Given the description of an element on the screen output the (x, y) to click on. 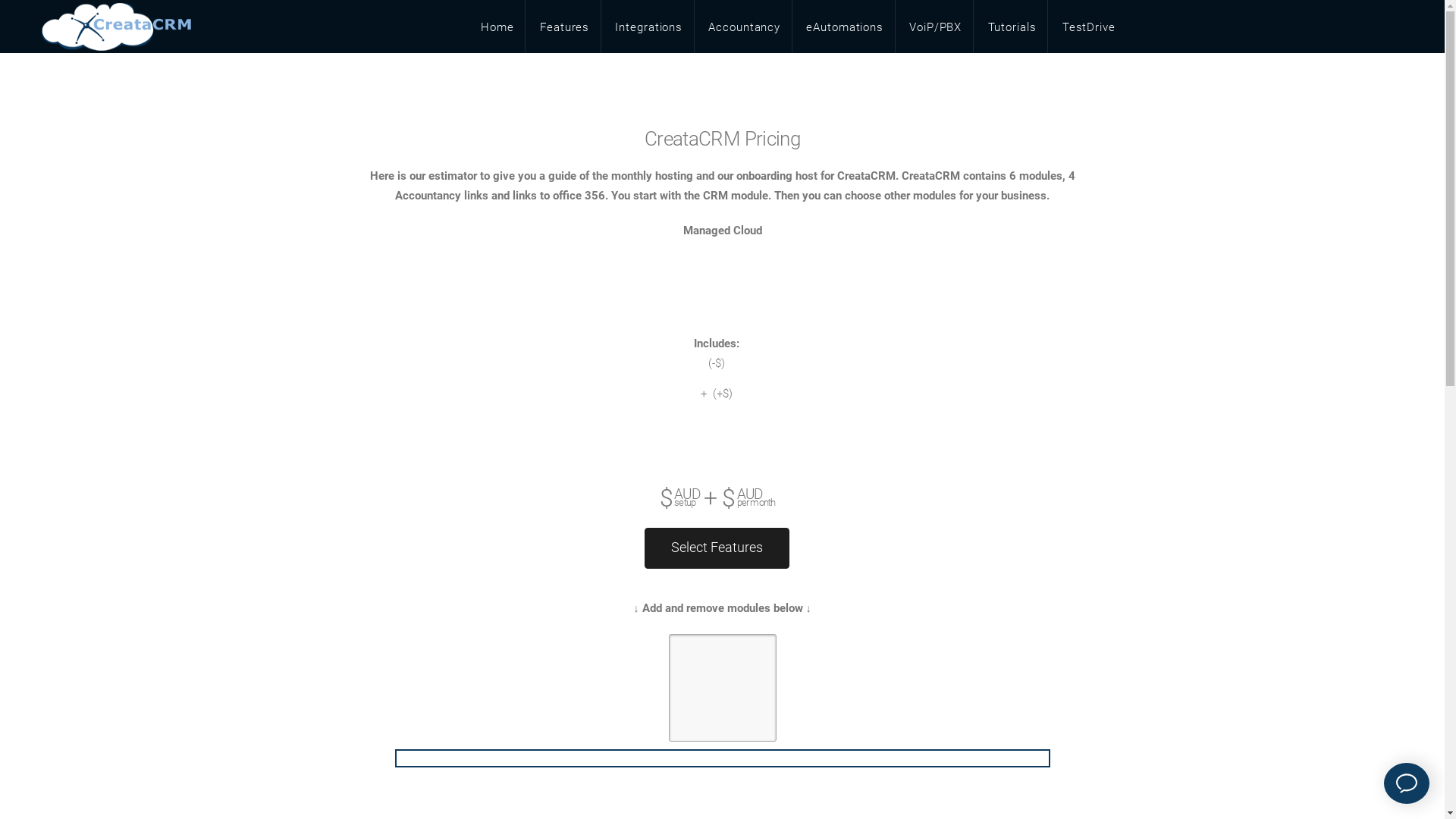
Features Element type: text (563, 27)
Integrations Element type: text (648, 27)
Home Element type: text (497, 27)
Accountancy Element type: text (744, 27)
Select Features Element type: text (716, 547)
VoiP/PBX Element type: text (935, 27)
eAutomations Element type: text (844, 27)
TestDrive Element type: text (1088, 27)
Tutorials Element type: text (1011, 27)
